Given the description of an element on the screen output the (x, y) to click on. 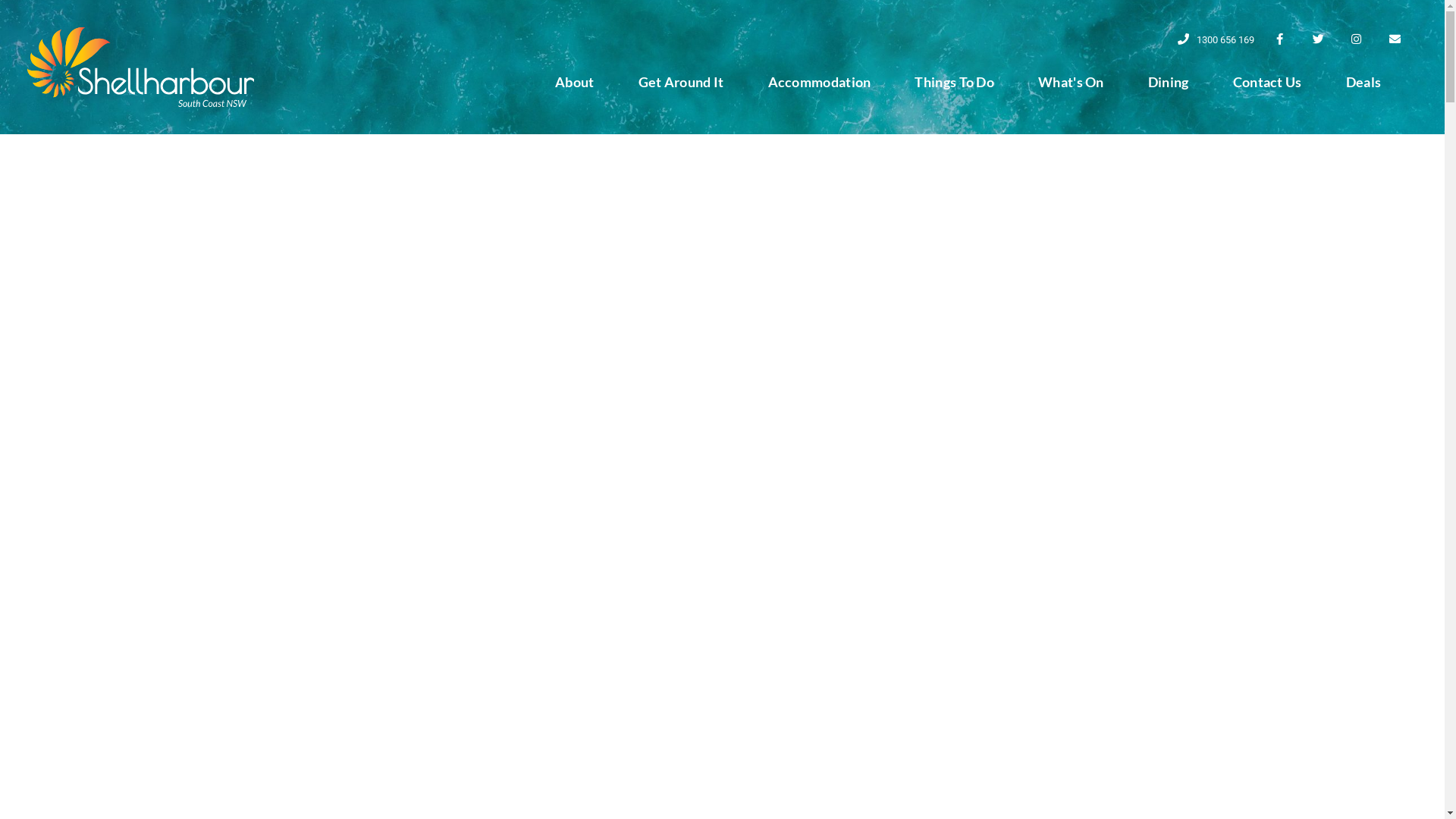
Deals Element type: text (1363, 81)
Things To Do Element type: text (954, 81)
About Element type: text (574, 81)
Contact Us Element type: text (1267, 81)
Accommodation Element type: text (819, 81)
1300 656 169 Element type: text (1215, 39)
What's On Element type: text (1071, 81)
Get Around It Element type: text (681, 81)
Dining Element type: text (1168, 81)
